Given the description of an element on the screen output the (x, y) to click on. 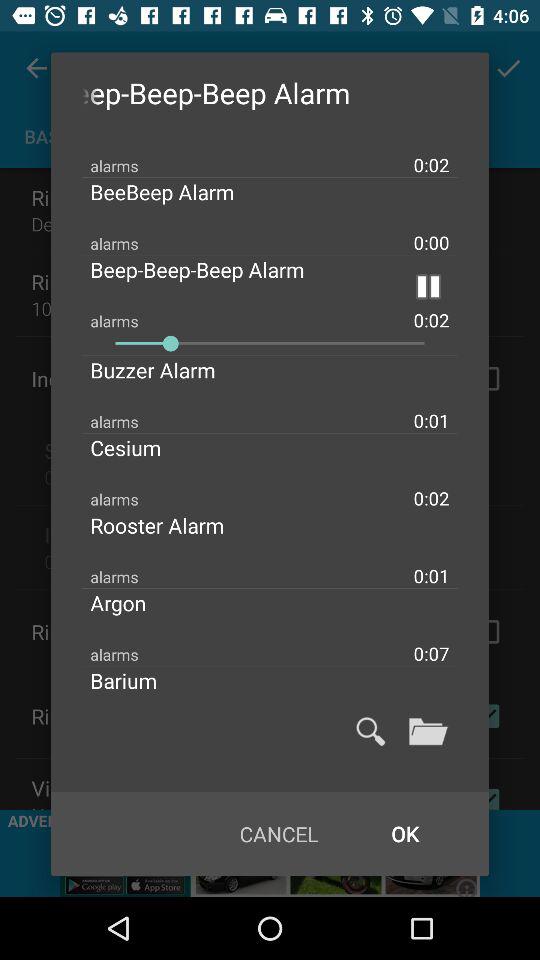
tap barium (140, 680)
